Given the description of an element on the screen output the (x, y) to click on. 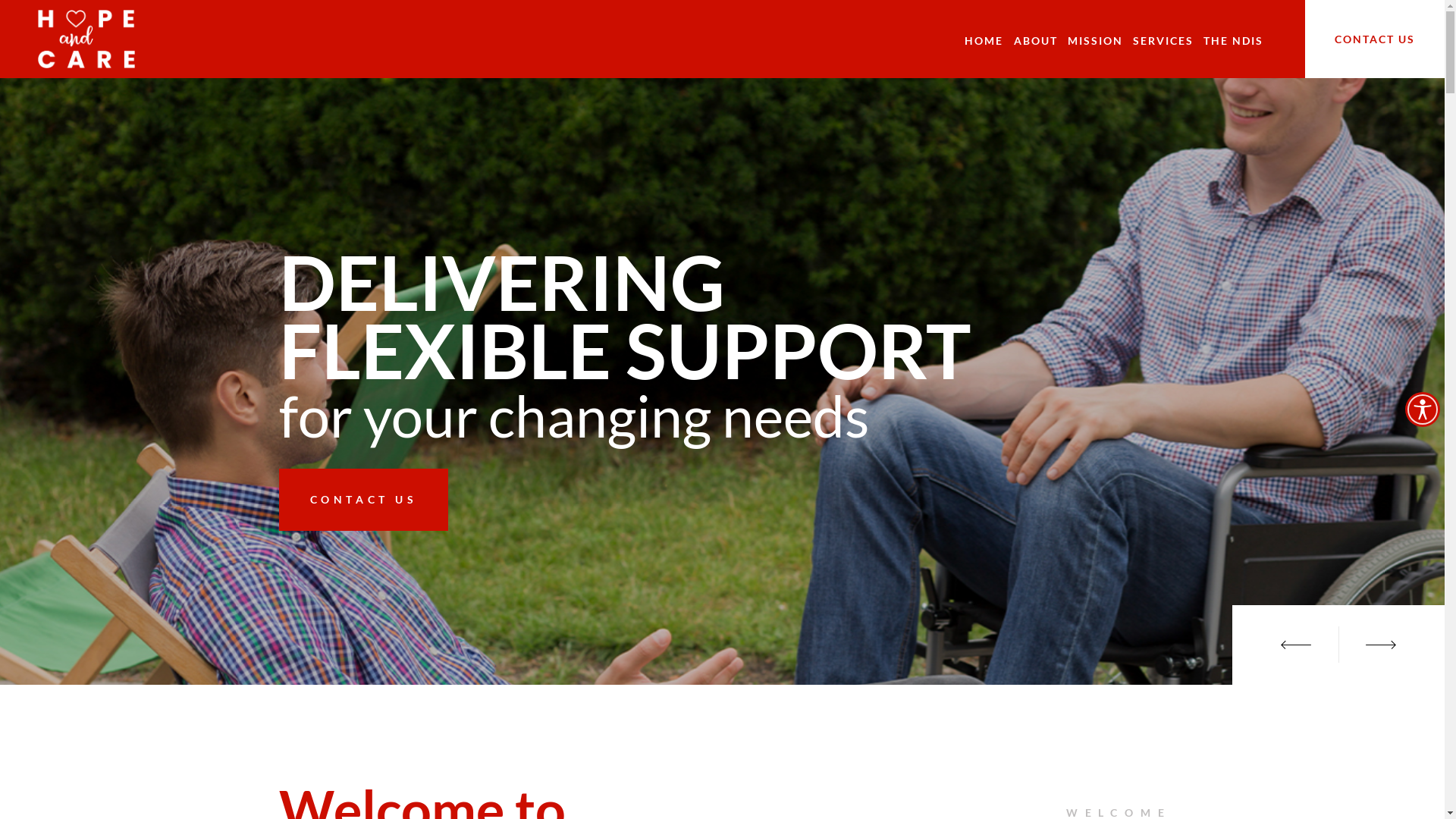
CONTACT US Element type: text (363, 499)
HOME Element type: text (984, 40)
CONTACT US Element type: text (1374, 39)
THE NDIS Element type: text (1232, 40)
MISSION Element type: text (1094, 40)
SERVICES Element type: text (1162, 40)
ABOUT Element type: text (1035, 40)
